Given the description of an element on the screen output the (x, y) to click on. 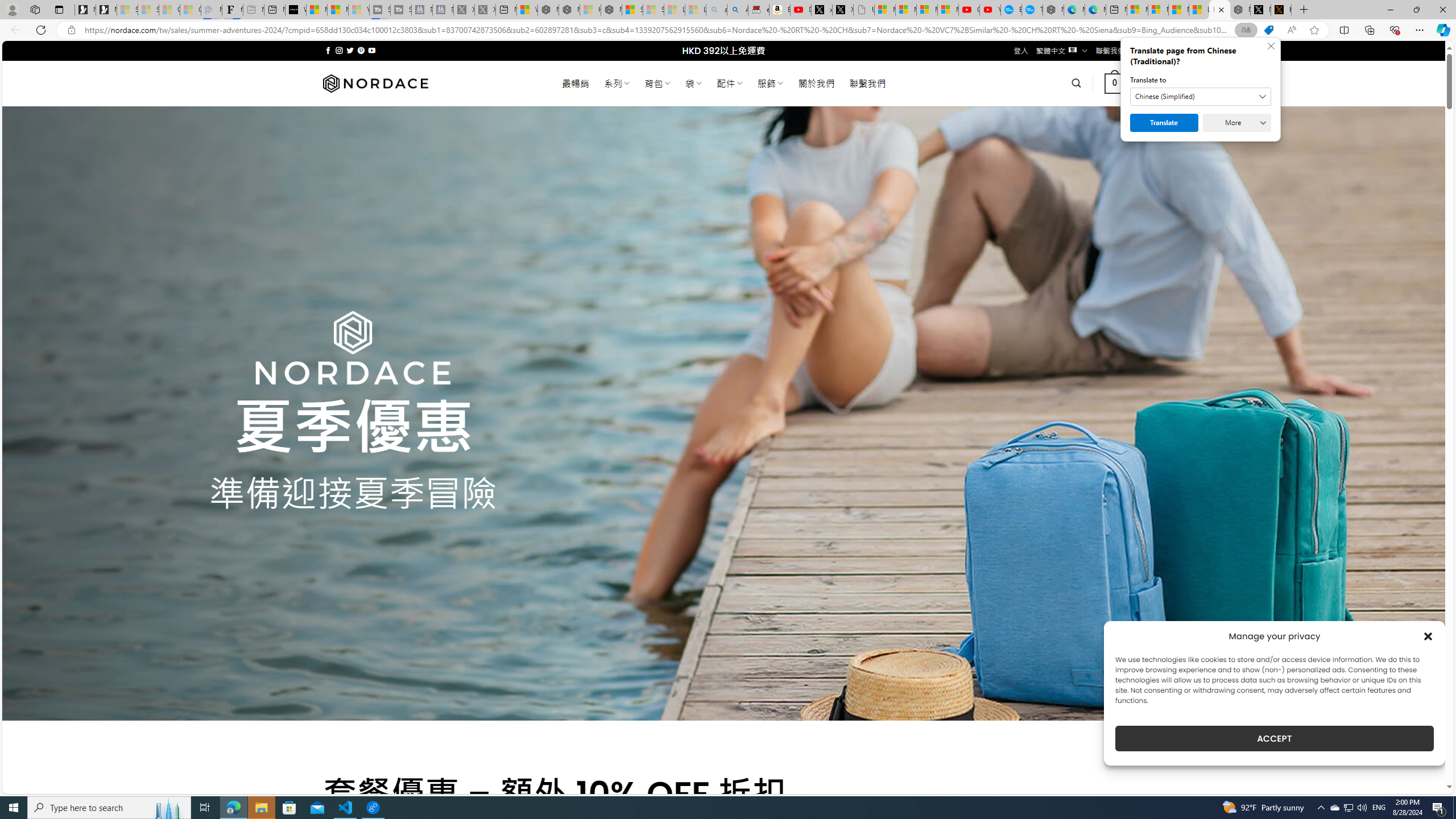
Follow on Instagram (338, 50)
